Given the description of an element on the screen output the (x, y) to click on. 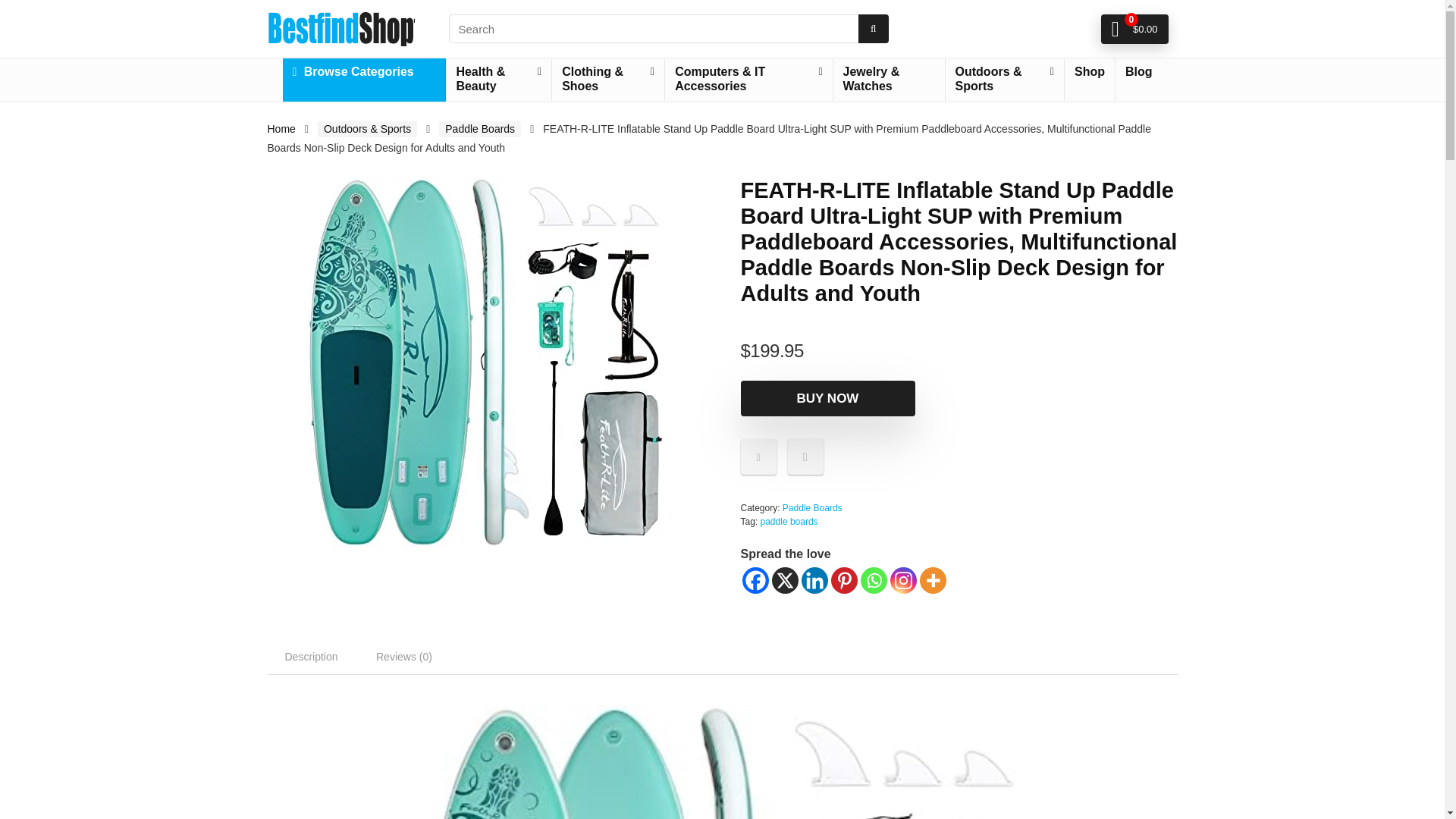
Paddle Boards (813, 507)
Shop (1089, 72)
More (931, 580)
Browse Categories (363, 72)
Linkedin (813, 580)
Blog (1138, 72)
Facebook (754, 580)
Pinterest (844, 580)
paddle boards (789, 521)
